Given the description of an element on the screen output the (x, y) to click on. 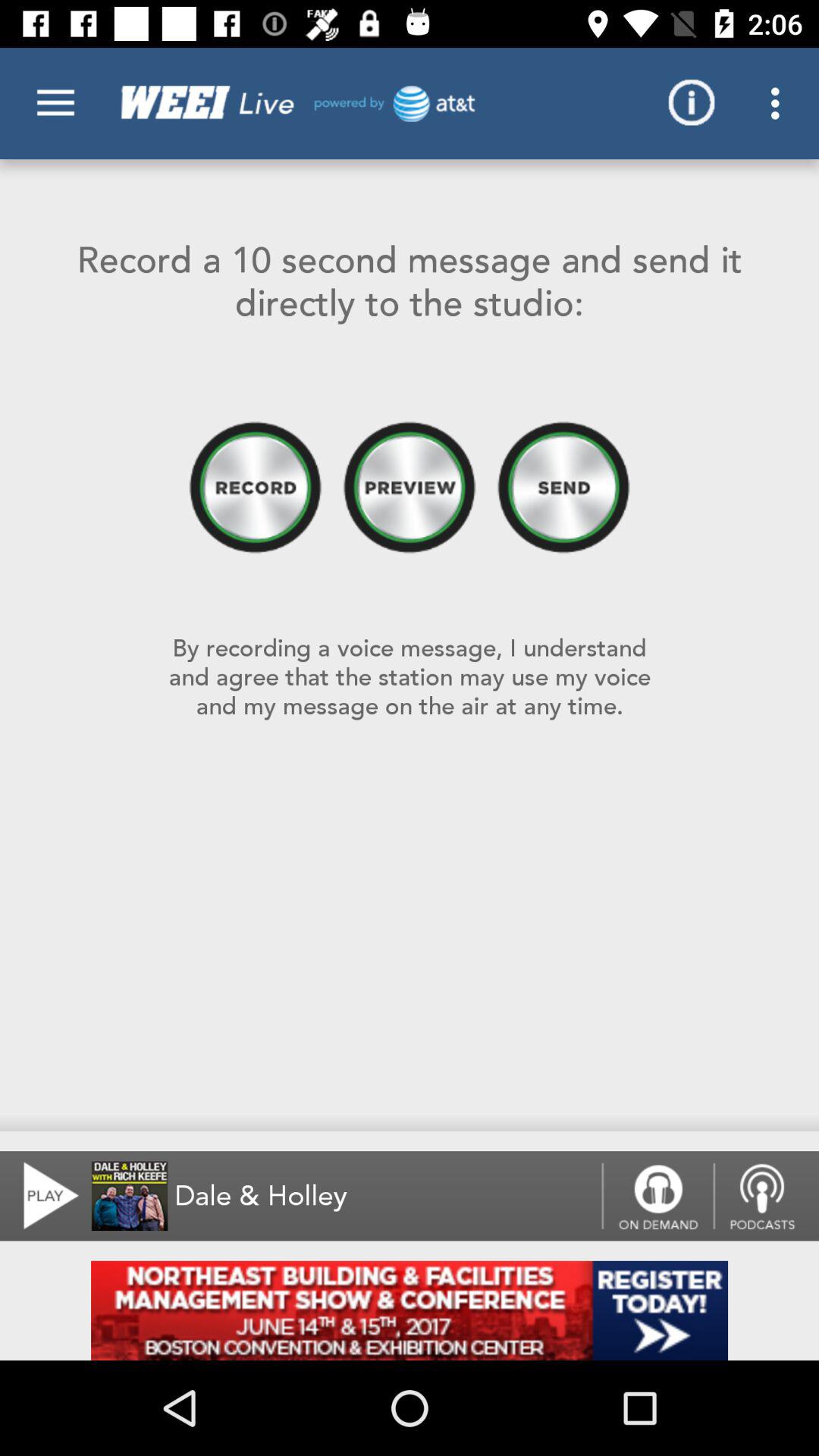
view advertisement (409, 1310)
